Given the description of an element on the screen output the (x, y) to click on. 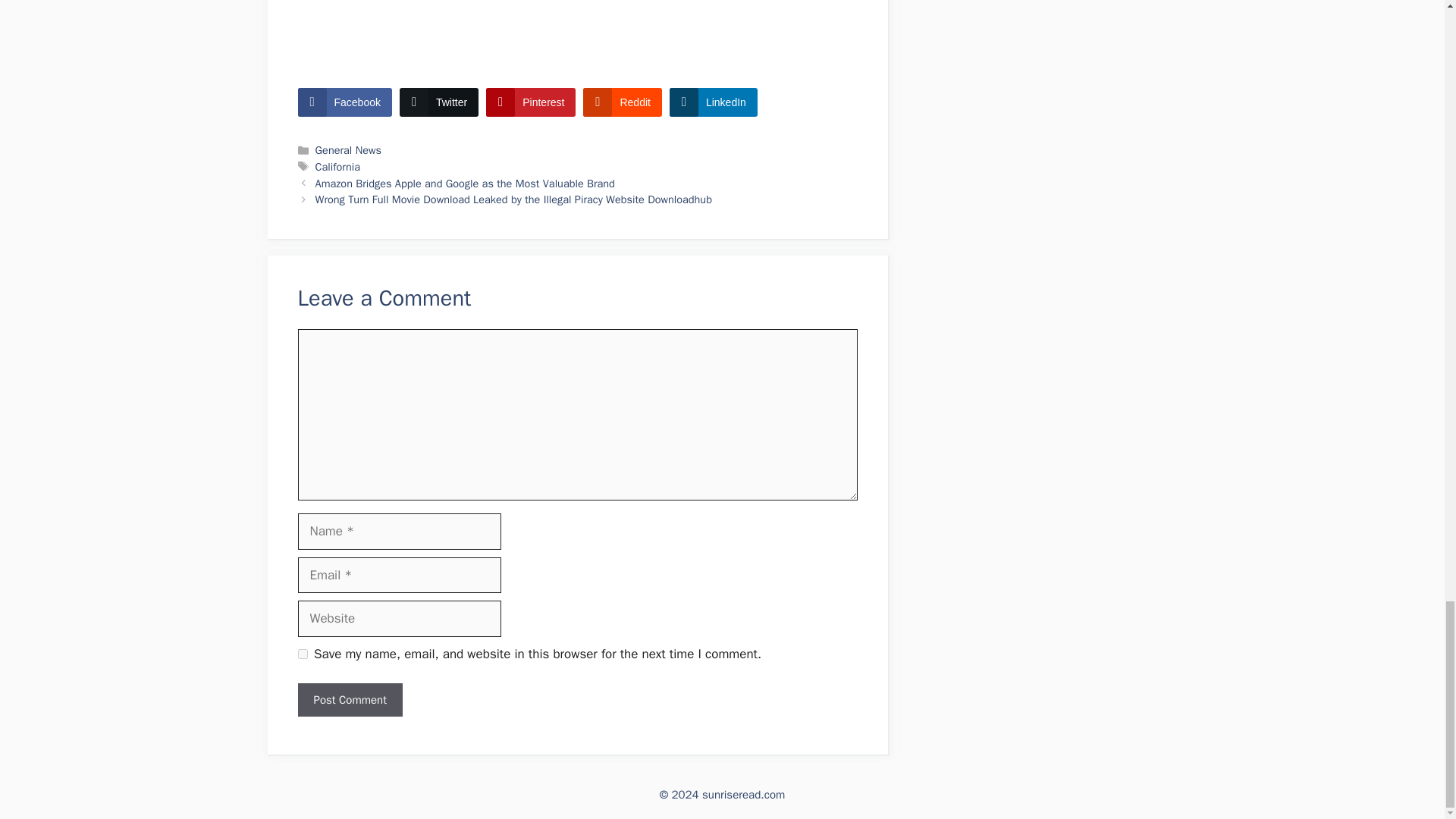
Pinterest (530, 102)
Reddit (622, 102)
Post Comment (349, 700)
Post Comment (349, 700)
LinkedIn (713, 102)
yes (302, 654)
Amazon Bridges Apple and Google as the Most Valuable Brand (464, 183)
Facebook (344, 102)
General News (348, 150)
Twitter (438, 102)
